Given the description of an element on the screen output the (x, y) to click on. 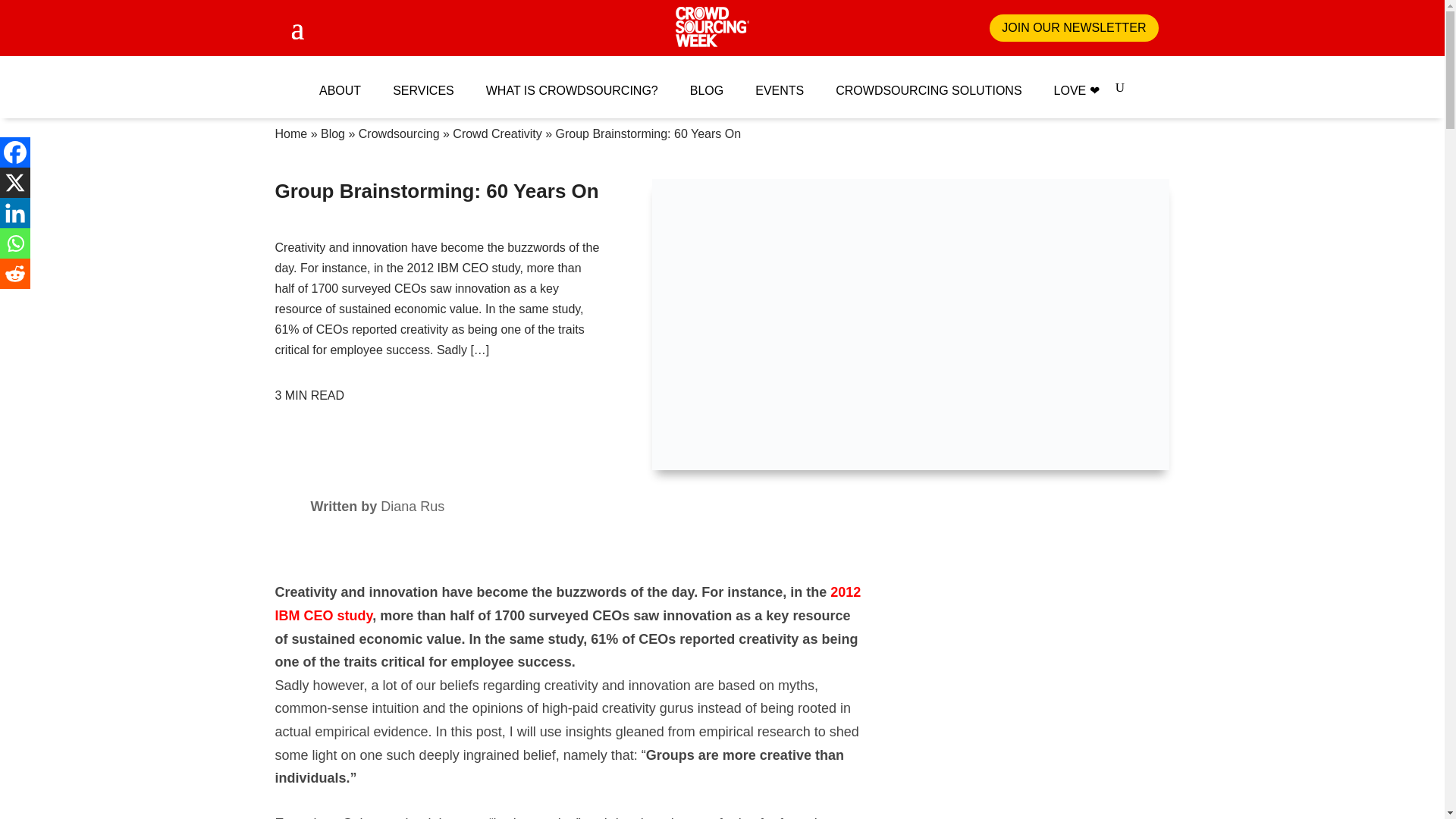
Home (291, 133)
Facebook (15, 152)
Crowd Creativity (496, 133)
CROWDSOURCING SOLUTIONS (928, 90)
Linkedin (15, 213)
JOIN OUR NEWSLETTER (1073, 28)
SERVICES (423, 90)
2012 IBM CEO study (567, 603)
Services (423, 90)
Blog (332, 133)
